Given the description of an element on the screen output the (x, y) to click on. 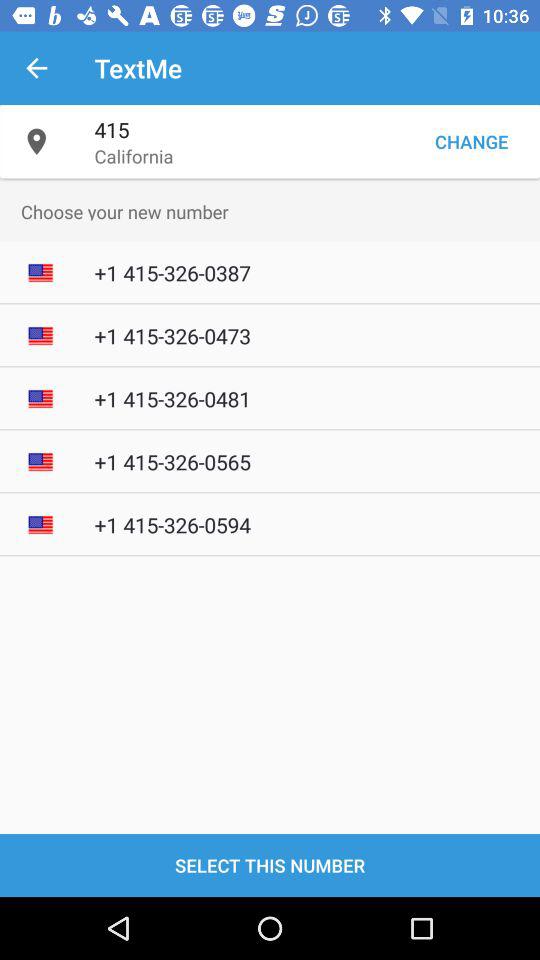
jump until select this number (270, 864)
